Given the description of an element on the screen output the (x, y) to click on. 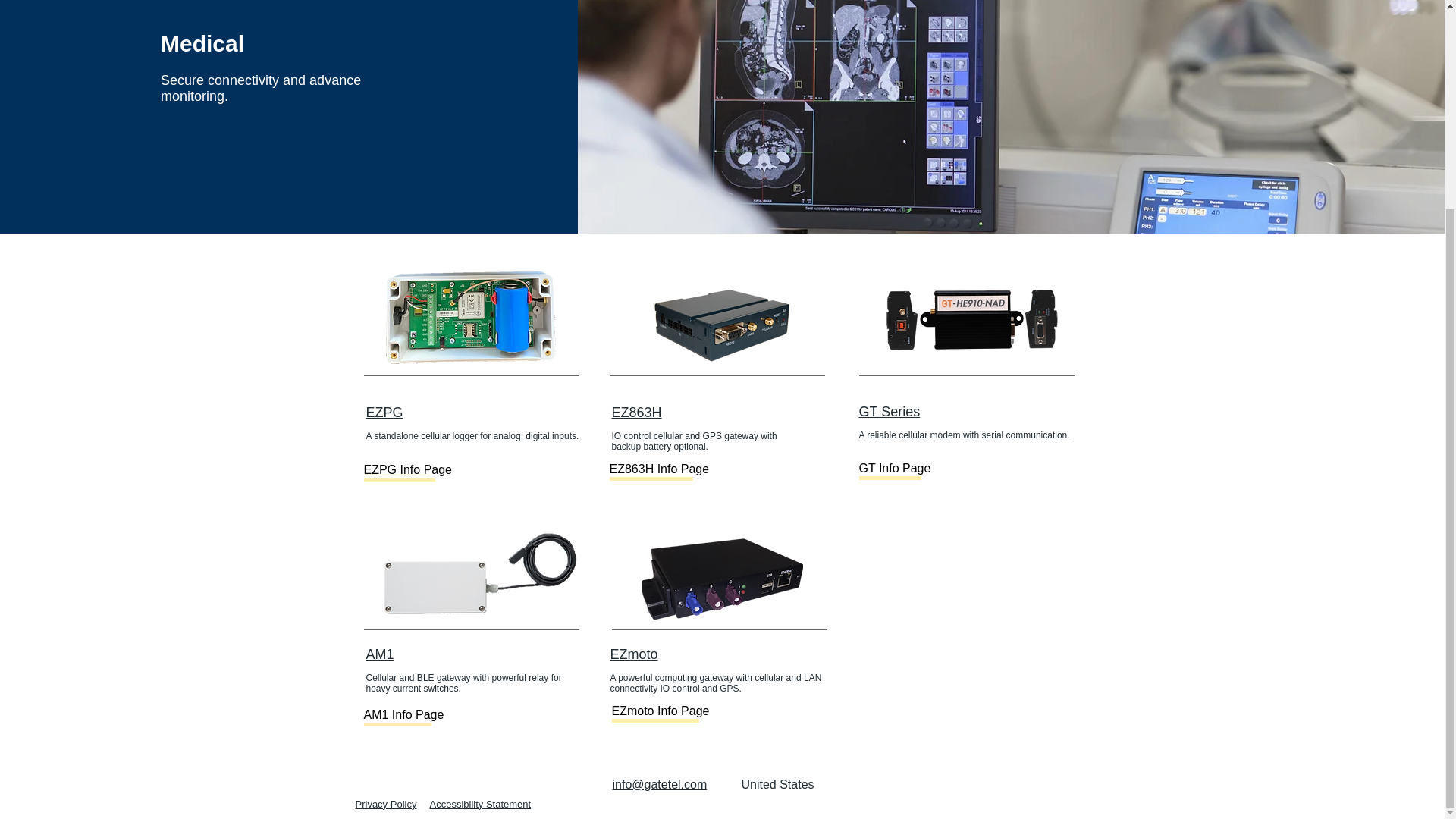
AM1 Info Page (414, 715)
EZPG Info Page (414, 470)
Privacy Policy (385, 803)
GT Info Page (908, 468)
EZ863H (636, 412)
EZmoto (634, 654)
EZPG (384, 412)
Accessibility Statement (480, 803)
EZmoto Info Page (661, 711)
GT Series (889, 411)
AM1 (379, 654)
EZ863H Info Page (660, 469)
